Given the description of an element on the screen output the (x, y) to click on. 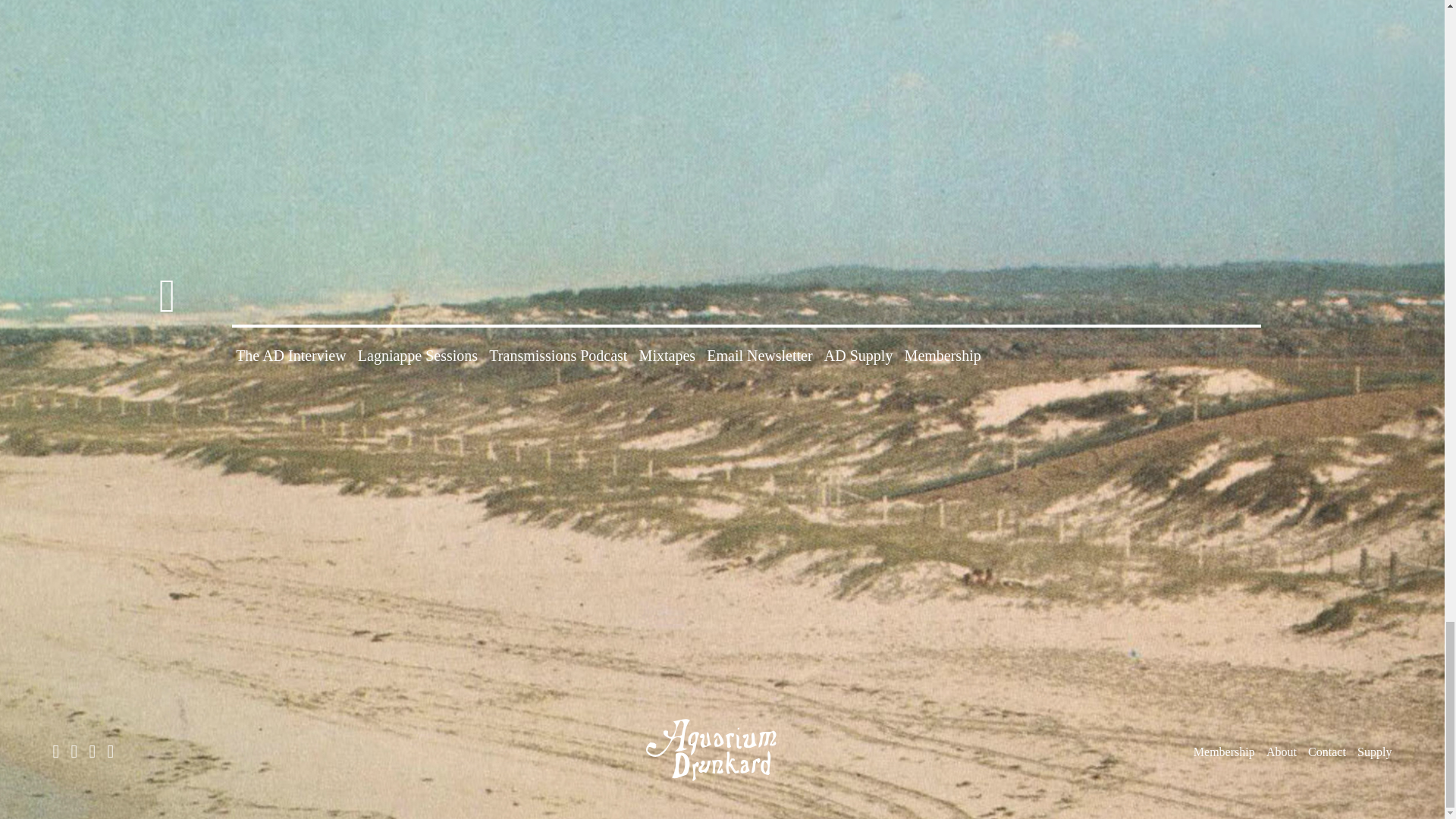
Aquarium Drunkard Merch Shop (1373, 751)
Contact Aquarium Drunkard (1326, 751)
Lagniappe Sessions (417, 355)
AD Supply (858, 355)
About Aquarium Drunkard (1281, 751)
Membership (942, 355)
Mixtapes (667, 355)
Aquarium Drunkard (721, 750)
Transmissions Podcast (558, 355)
Email Newsletter (759, 355)
The AD Interview (290, 355)
